Given the description of an element on the screen output the (x, y) to click on. 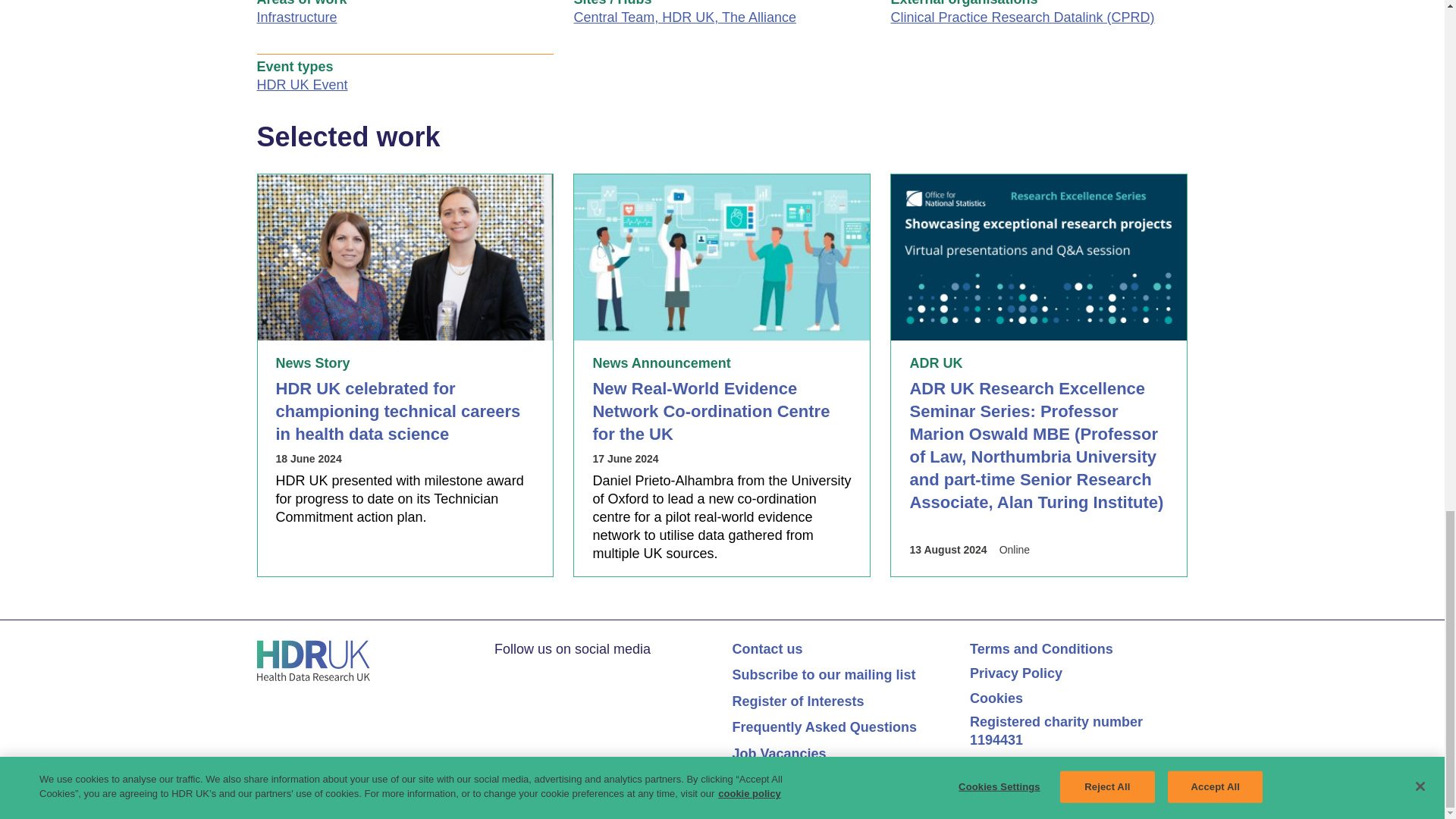
Twitter (503, 673)
YouTube (561, 673)
LinkedIn (531, 673)
